Given the description of an element on the screen output the (x, y) to click on. 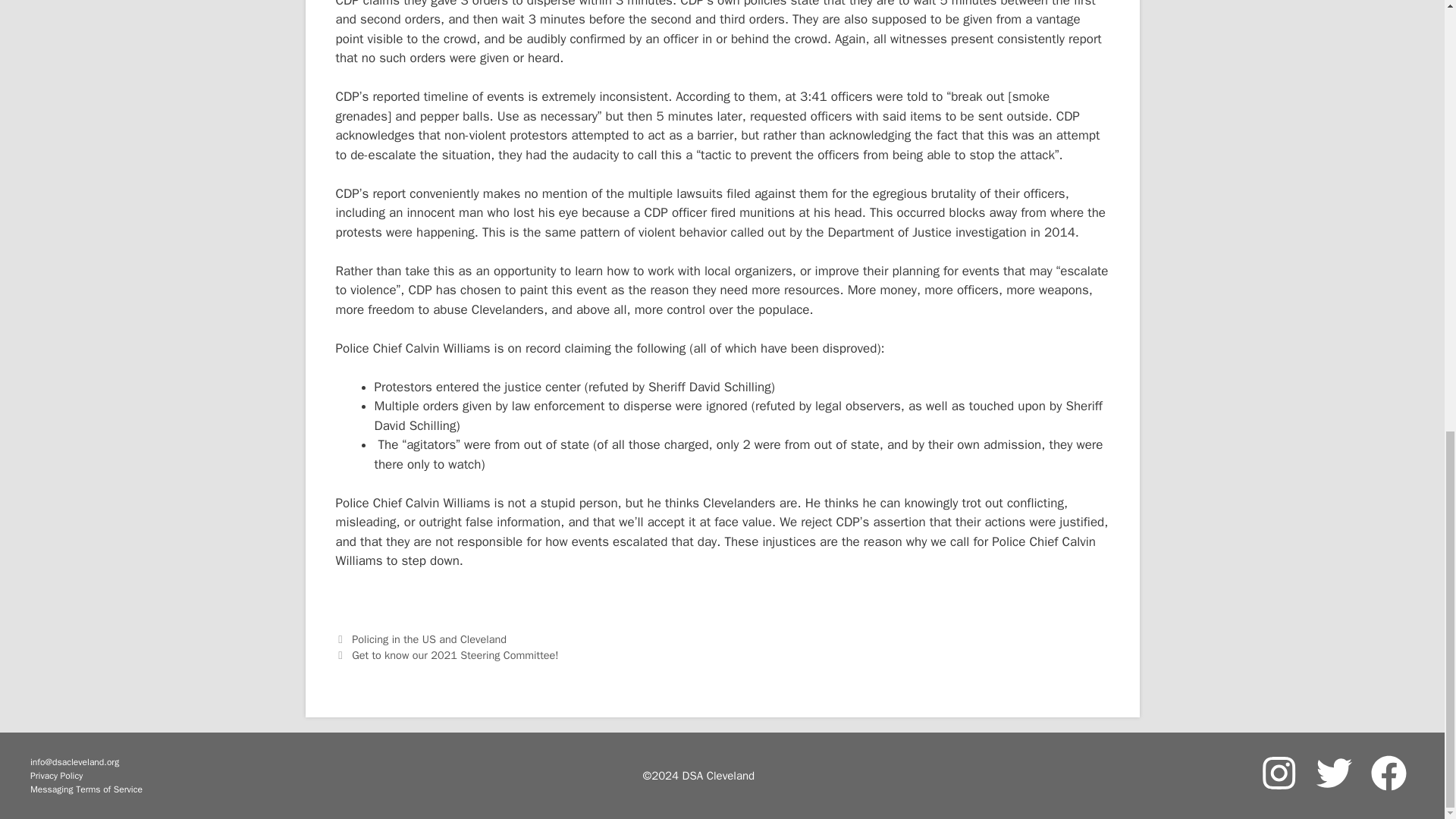
Policing in the US and Cleveland (429, 639)
Get to know our 2021 Steering Committee!  (457, 654)
Messaging Terms of Service (86, 789)
Privacy Policy (86, 775)
